Given the description of an element on the screen output the (x, y) to click on. 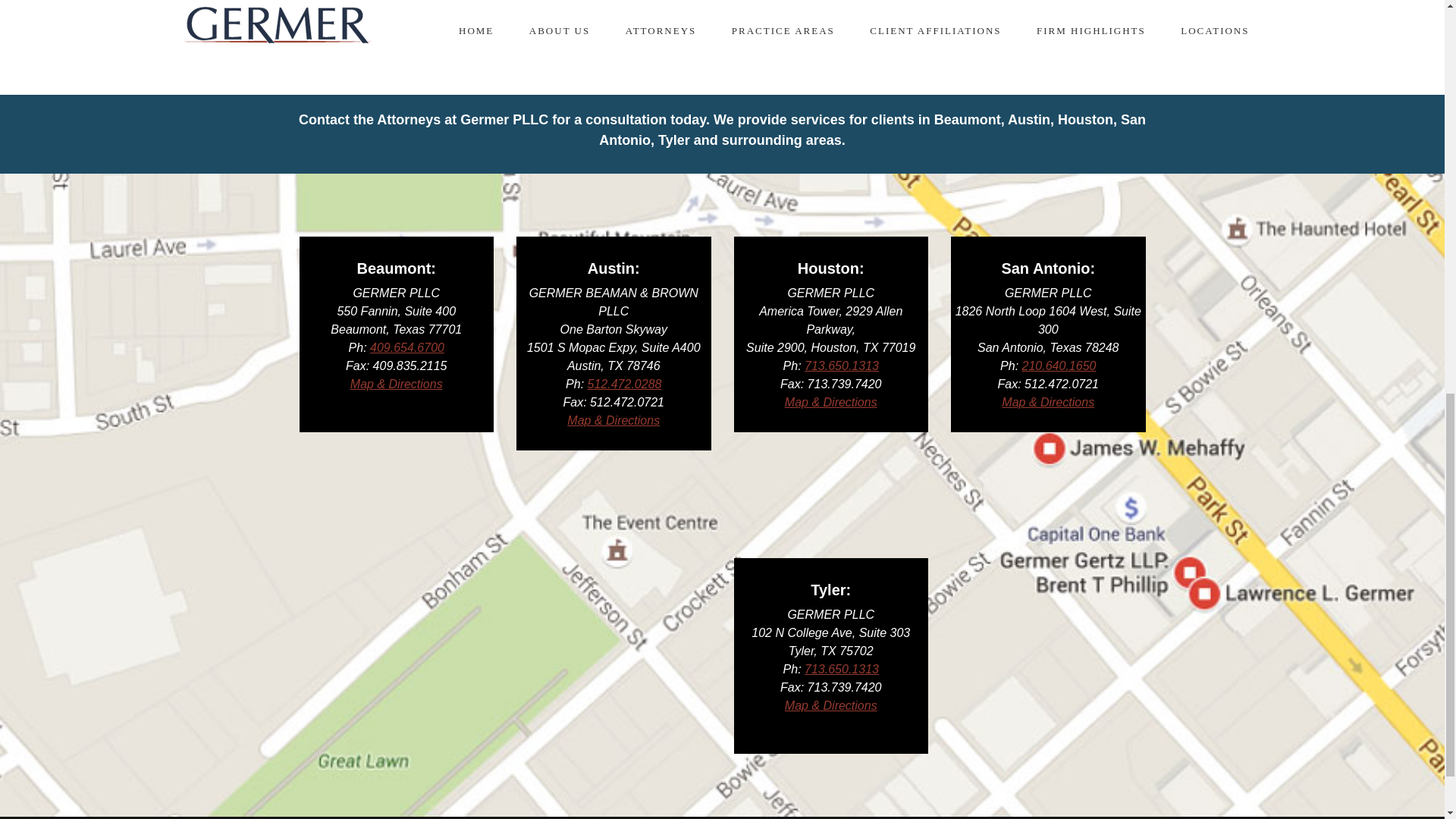
409.654.6700 (406, 347)
More (721, 13)
512.472.0288 (625, 383)
